Given the description of an element on the screen output the (x, y) to click on. 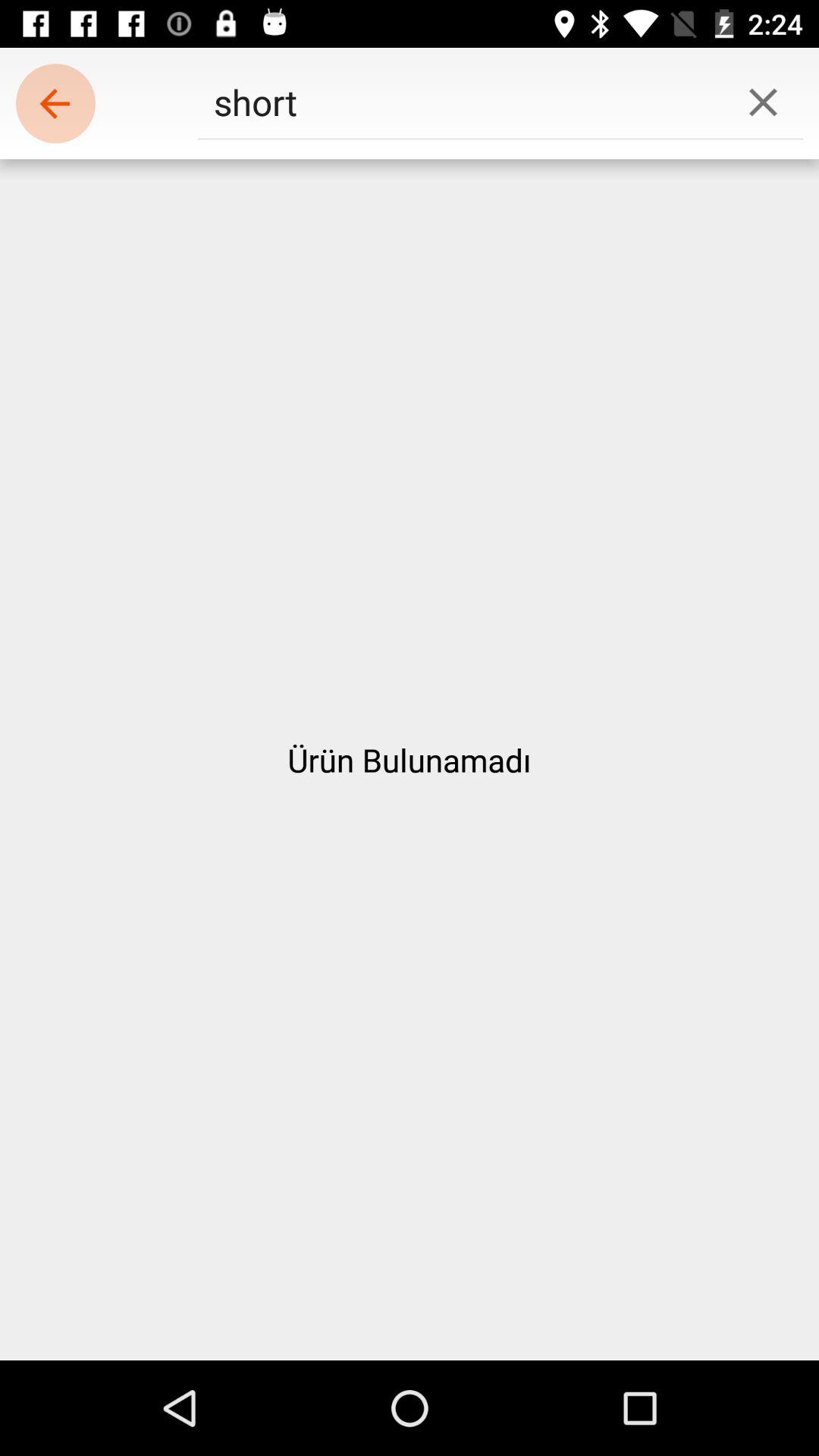
turn on short (460, 102)
